Given the description of an element on the screen output the (x, y) to click on. 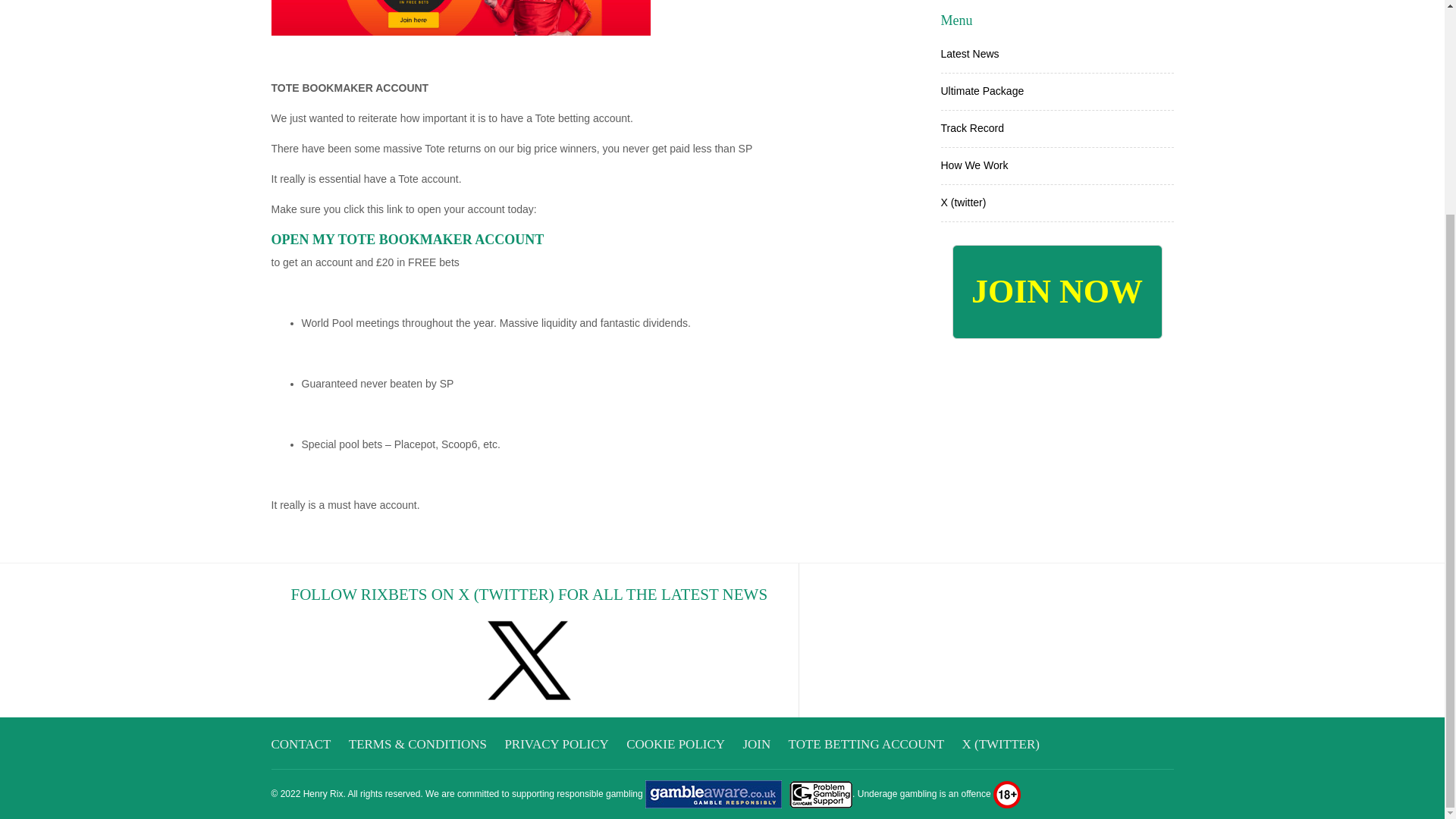
COOKIE POLICY (675, 744)
Ultimate Package (981, 91)
JOIN NOW (1056, 291)
TOTE BETTING ACCOUNT (866, 744)
CONTACT (300, 744)
PRIVACY POLICY (555, 744)
Latest News (969, 53)
Track Record (972, 128)
OPEN MY TOTE BOOKMAKER ACCOUNT (407, 239)
How We Work (973, 164)
JOIN (756, 744)
